Given the description of an element on the screen output the (x, y) to click on. 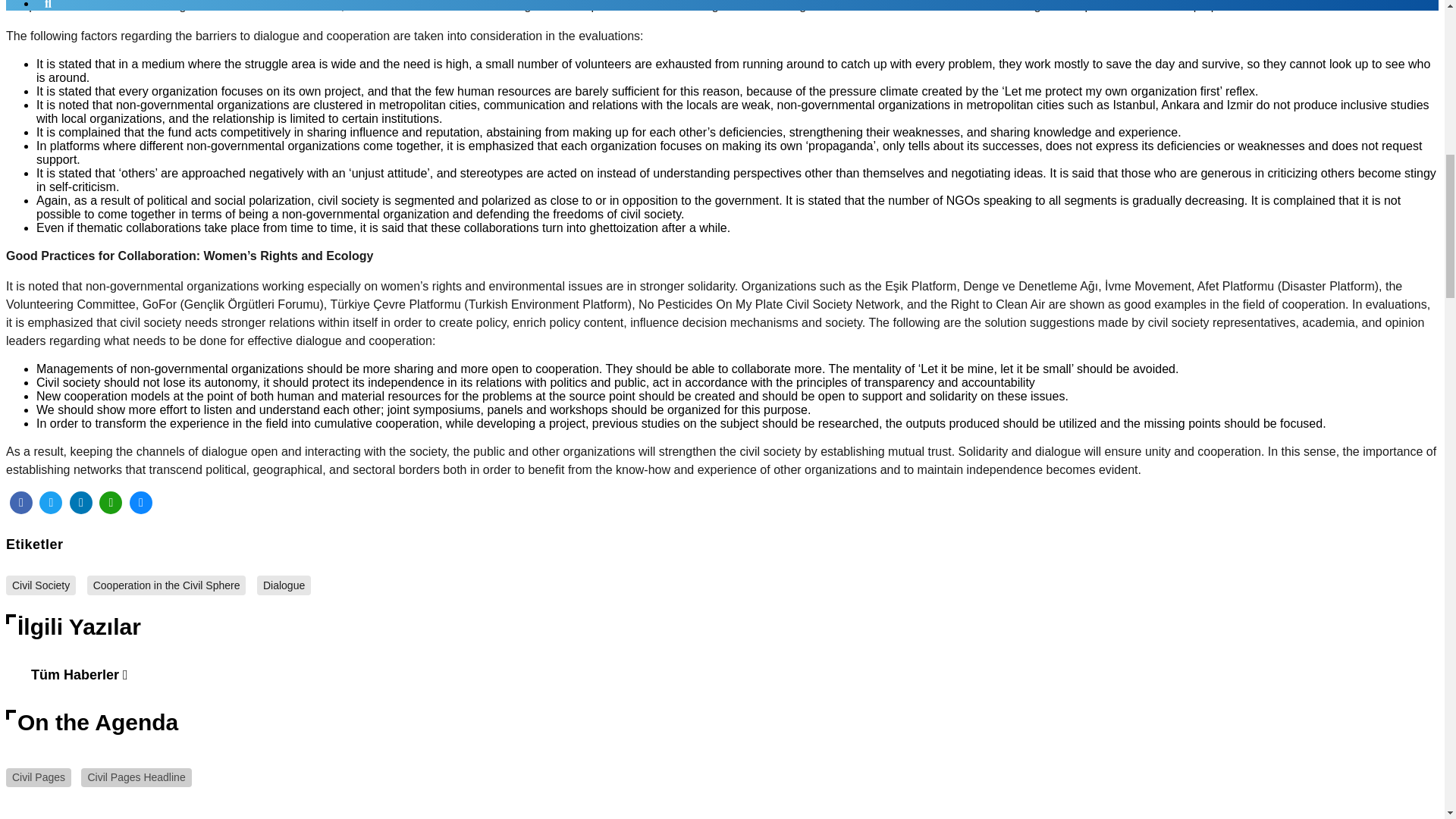
Dialogue (284, 585)
Civil Society (40, 585)
Cooperation in the Civil Sphere (166, 585)
